Given the description of an element on the screen output the (x, y) to click on. 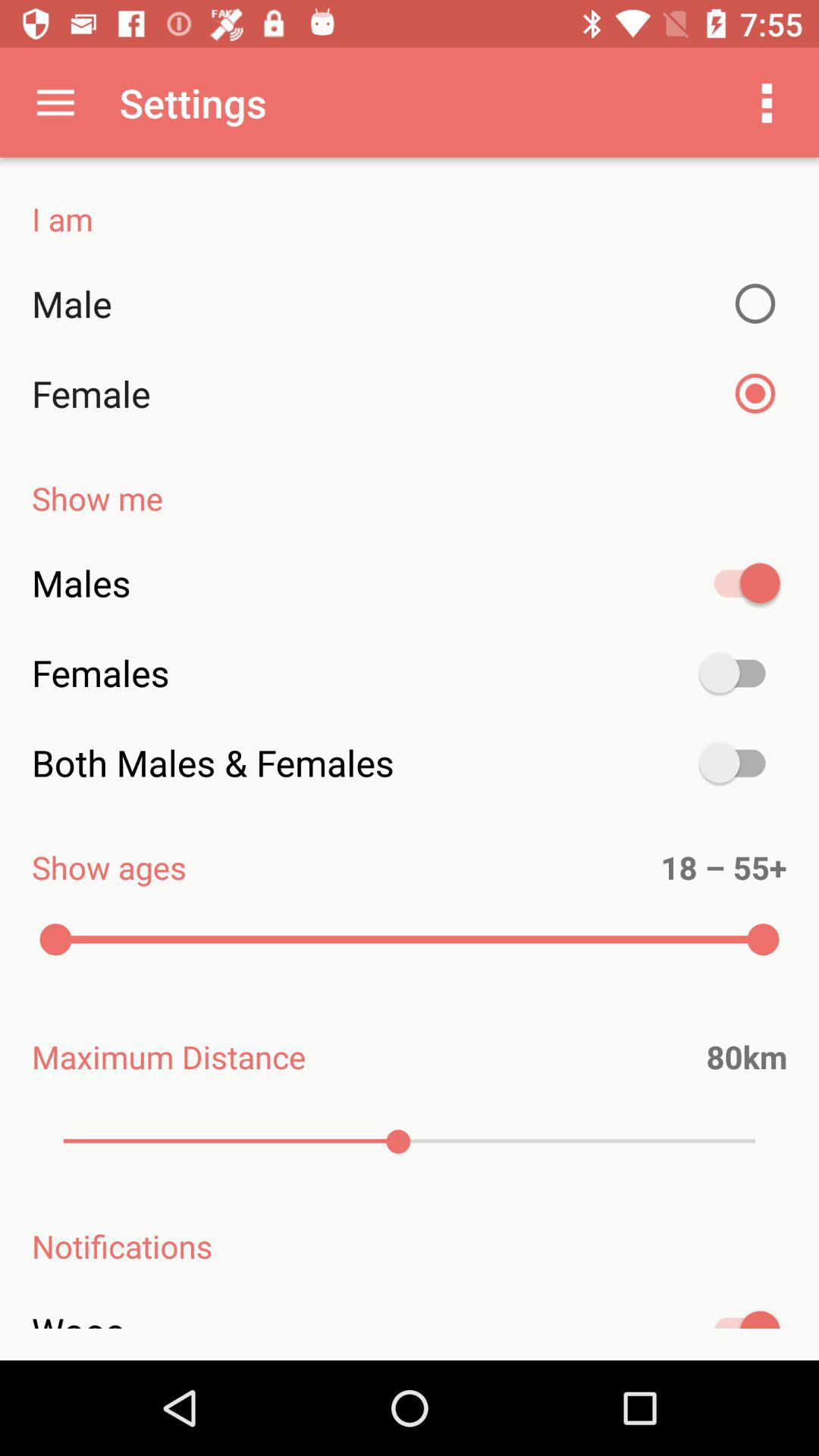
select item above show me item (409, 393)
